Given the description of an element on the screen output the (x, y) to click on. 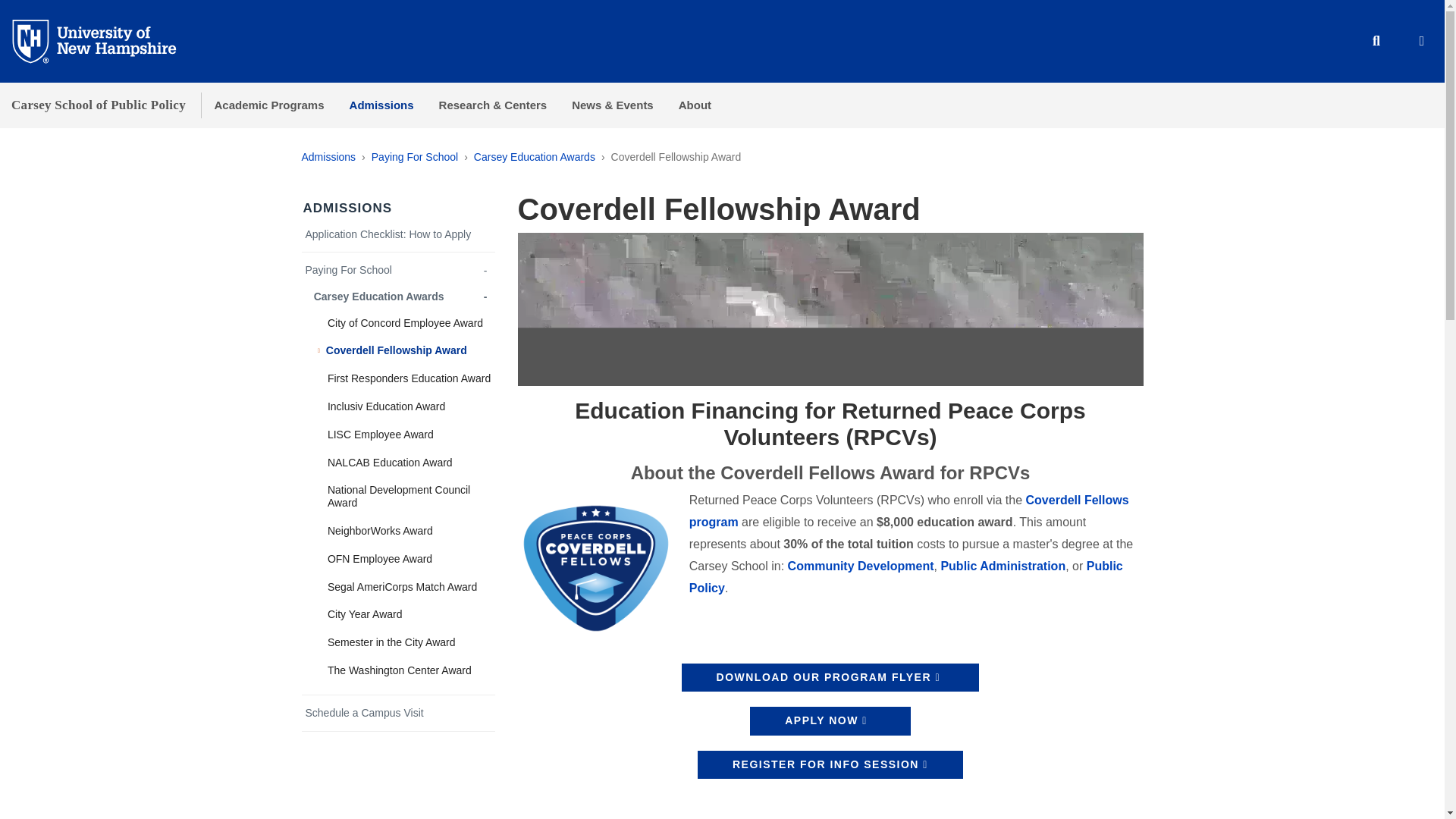
Carsey School of Public Policy (98, 104)
Upcoming Information Sessions (829, 765)
About (694, 104)
University of New Hampshire (105, 40)
Admissions (381, 104)
coverdell-peace-corps-carsey-partnership-flyer.pdf (830, 677)
Paying For School (414, 156)
Academic Programs (269, 104)
Admissions (328, 156)
